Given the description of an element on the screen output the (x, y) to click on. 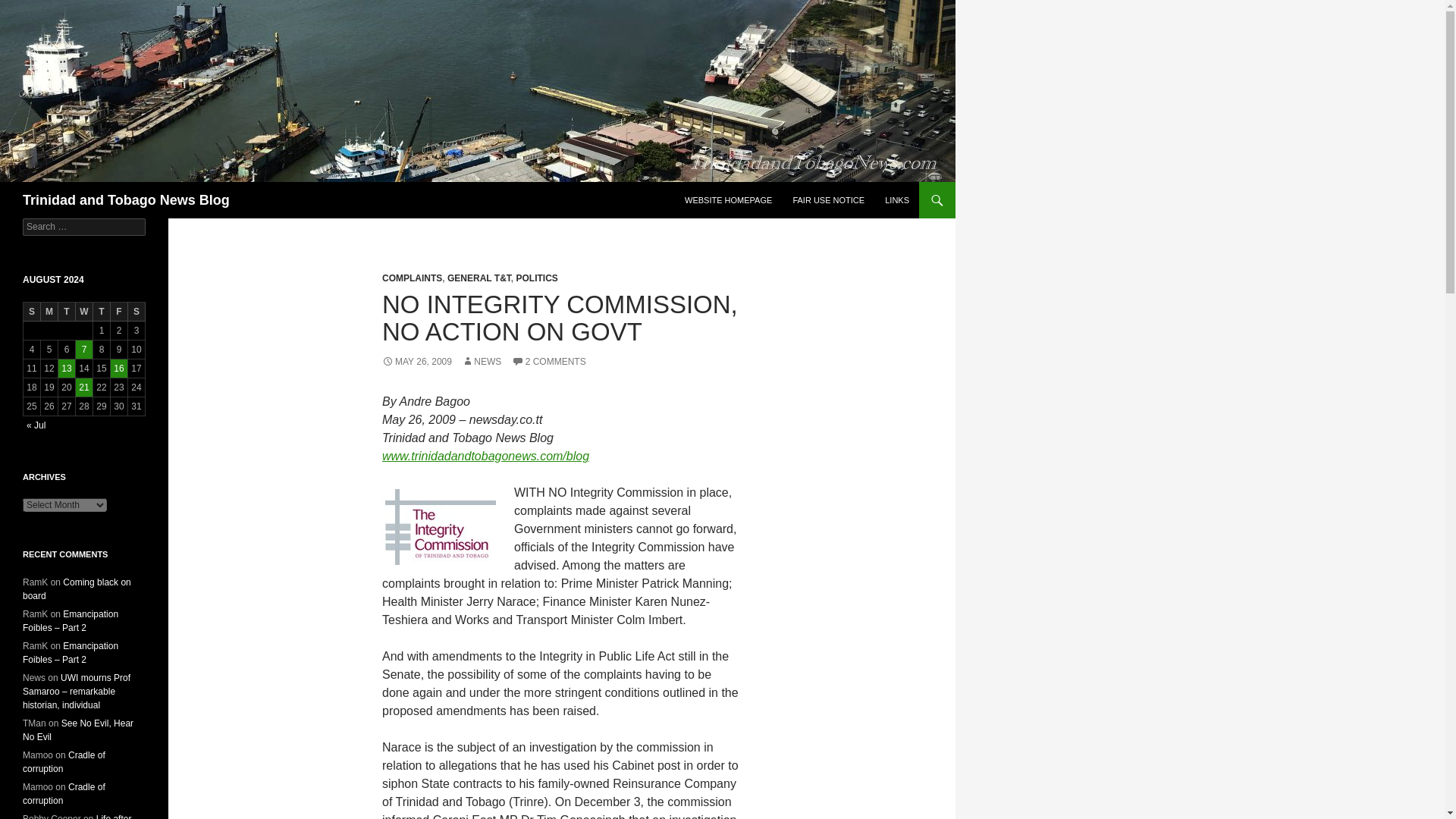
Friday (119, 311)
13 (66, 368)
Search (30, 8)
Thursday (101, 311)
WEBSITE HOMEPAGE (727, 199)
Sunday (31, 311)
MAY 26, 2009 (416, 361)
21 (84, 387)
POLITICS (536, 277)
